Given the description of an element on the screen output the (x, y) to click on. 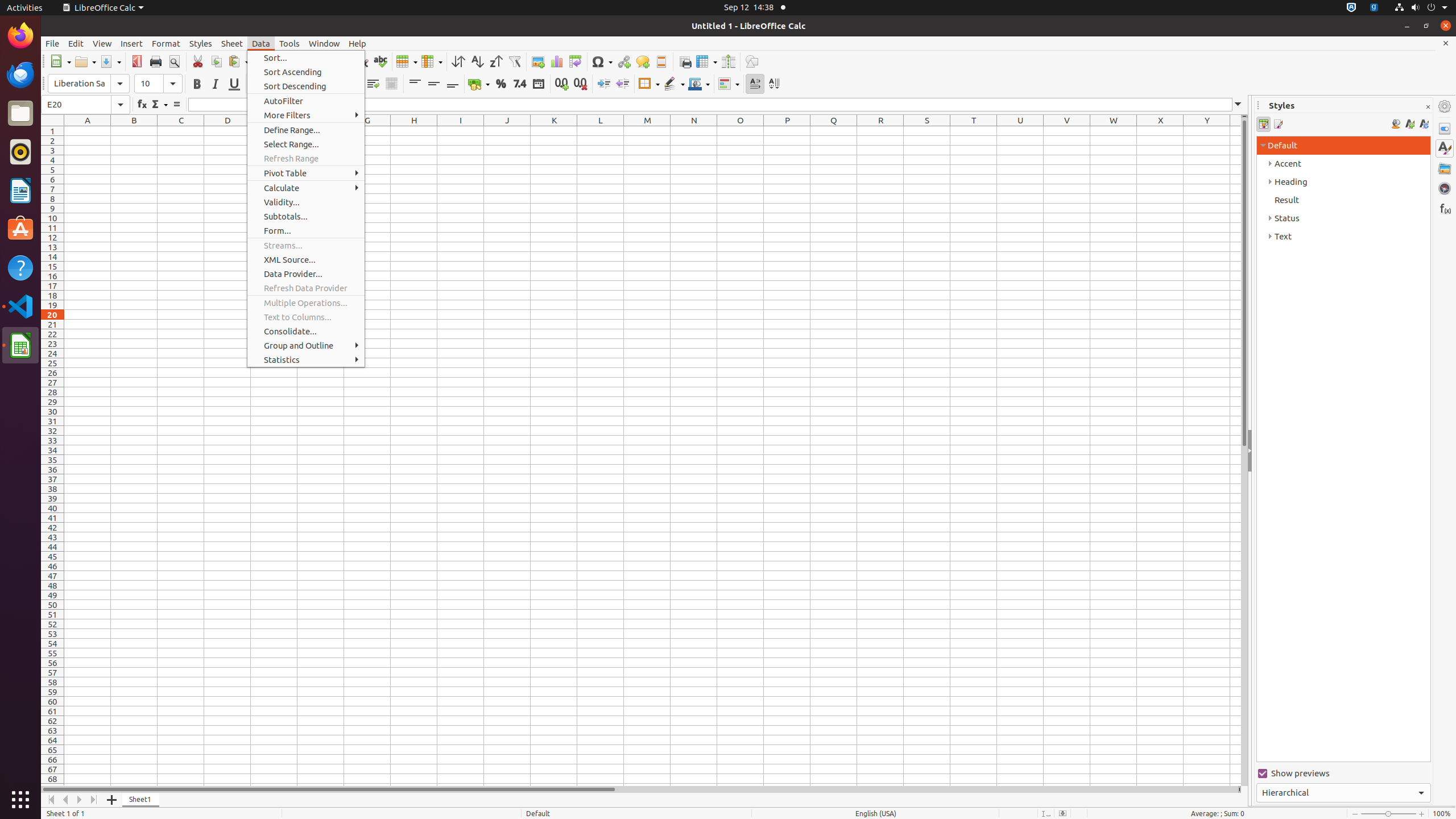
Update Style Element type: push-button (1423, 123)
I1 Element type: table-cell (460, 130)
Sort Ascending Element type: push-button (476, 61)
Bold Element type: toggle-button (196, 83)
Visual Studio Code Element type: push-button (20, 306)
